Given the description of an element on the screen output the (x, y) to click on. 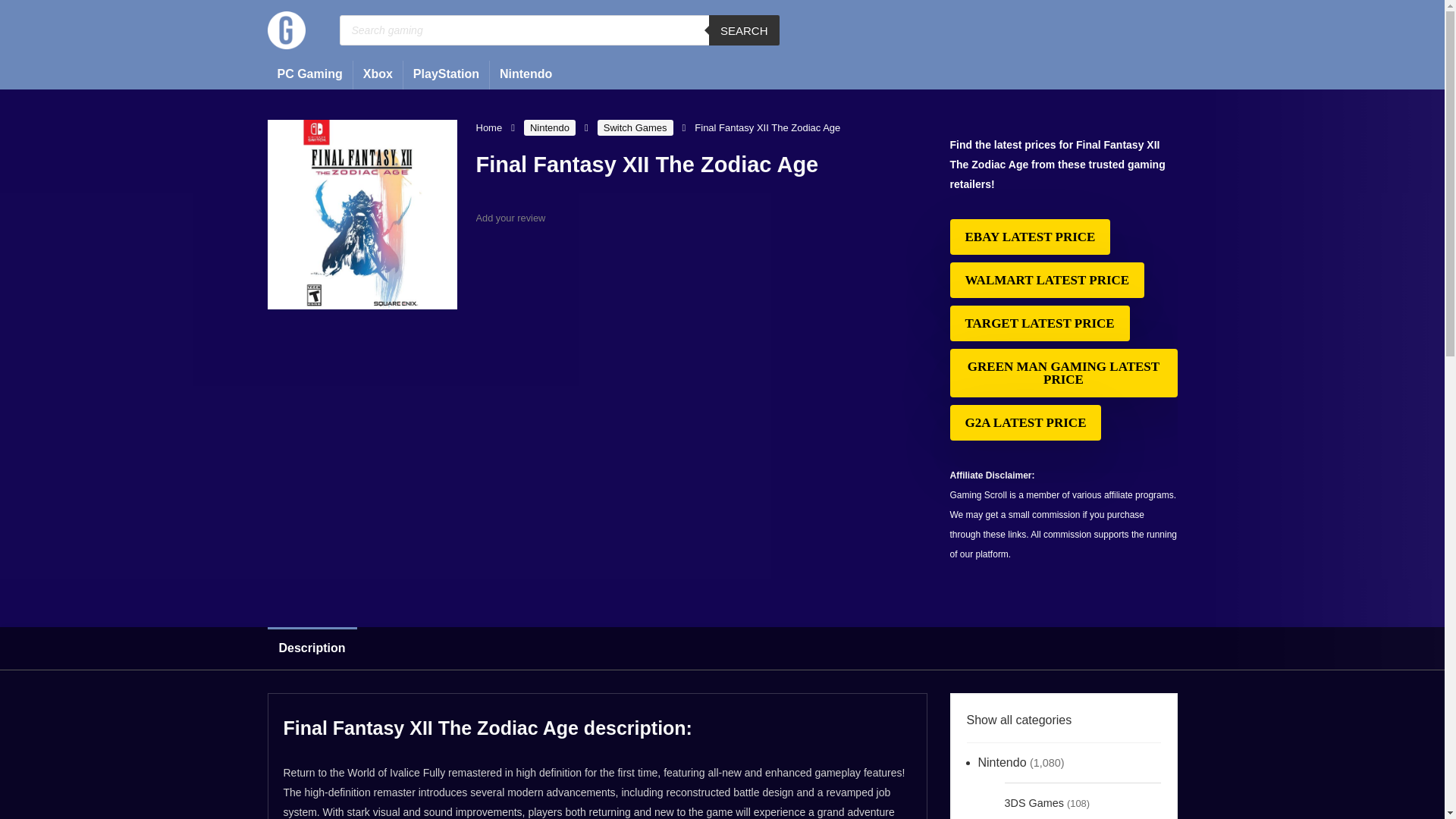
Description (721, 648)
Switch Games (634, 127)
Nintendo (549, 127)
PC Gaming (309, 74)
Nintendo (1002, 762)
G2A LATEST PRICE (1024, 422)
GREEN MAN GAMING LATEST PRICE (1062, 372)
Add your review (511, 217)
SEARCH (743, 30)
Xbox (378, 74)
Nintendo (525, 74)
PlayStation (446, 74)
3DS Games (1033, 800)
EBAY LATEST PRICE (1029, 236)
TARGET LATEST PRICE (1039, 323)
